Given the description of an element on the screen output the (x, y) to click on. 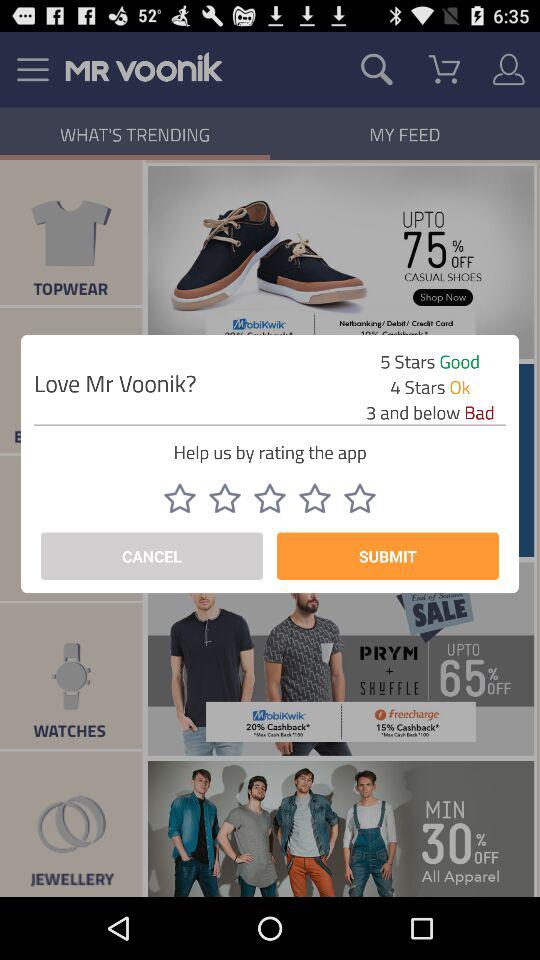
click item above cancel (225, 498)
